Given the description of an element on the screen output the (x, y) to click on. 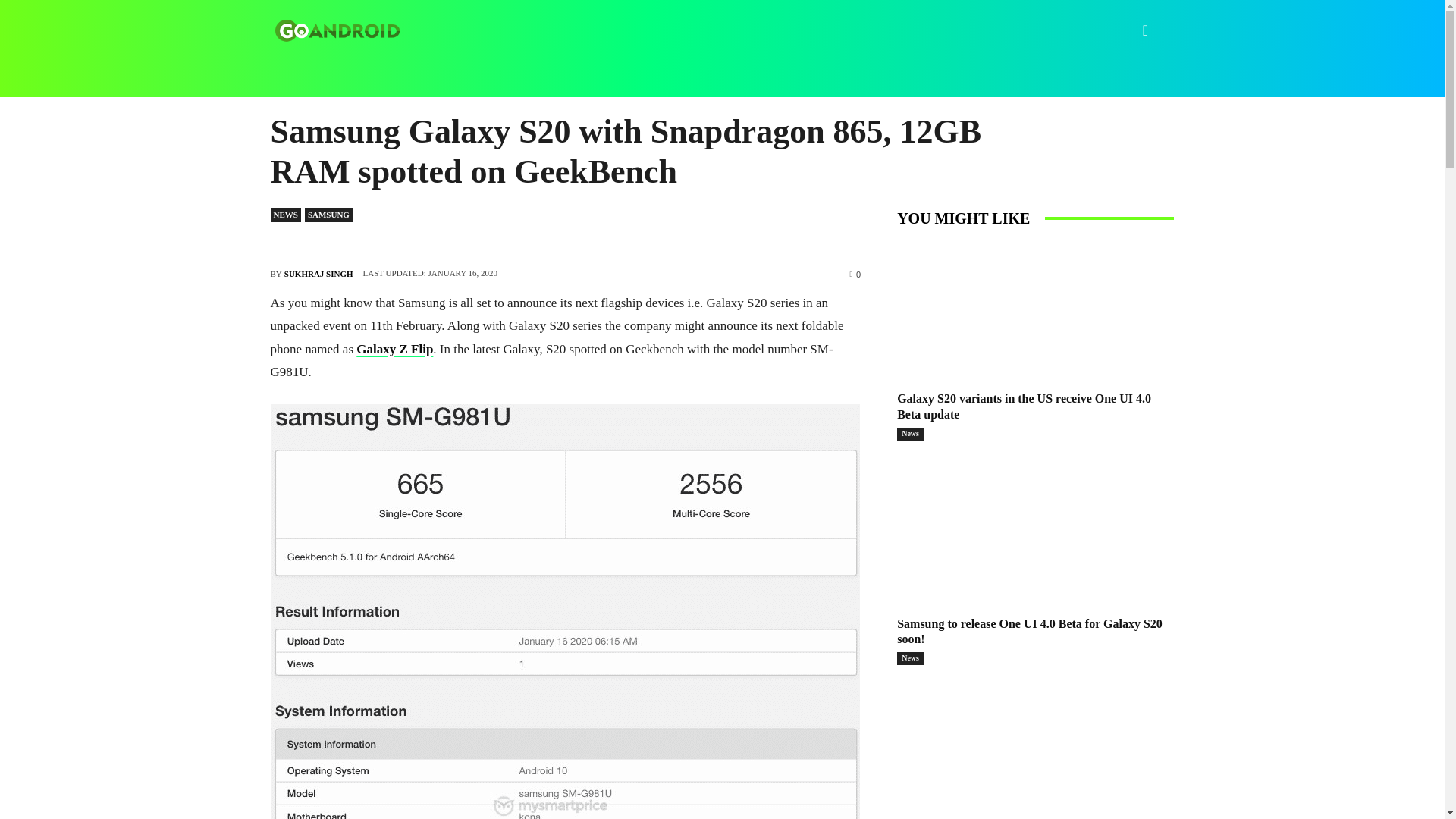
NEWS (284, 214)
SAMSUNG (328, 214)
SUKHRAJ SINGH (318, 273)
